Given the description of an element on the screen output the (x, y) to click on. 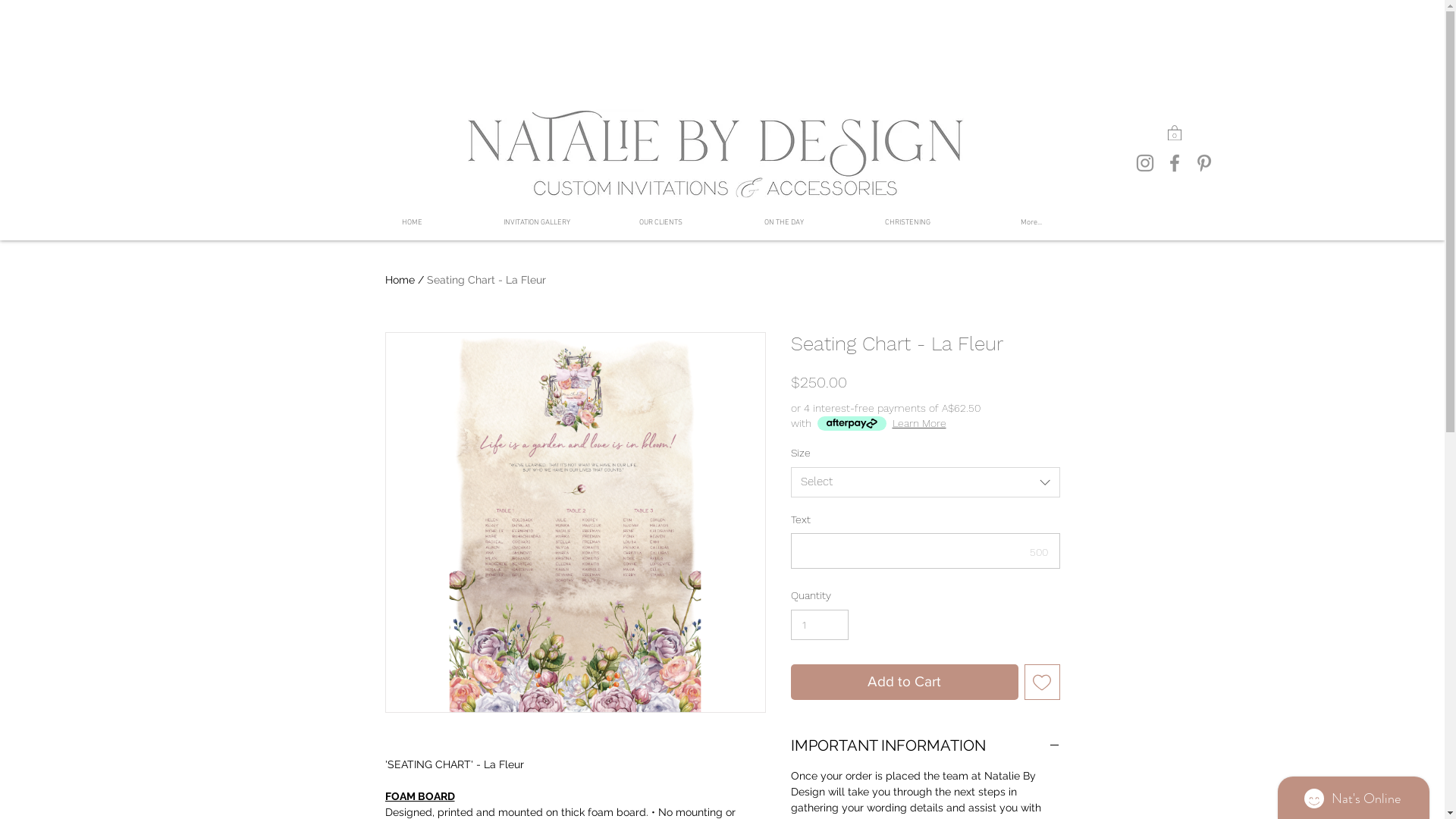
0 Element type: text (1174, 132)
INVITATION GALLERY Element type: text (536, 222)
HOME Element type: text (412, 222)
OUR CLIENTS Element type: text (660, 222)
ON THE DAY Element type: text (783, 222)
Home Element type: text (399, 279)
Custom Invitations - The Art of inviting Element type: hover (712, 153)
Select Element type: text (924, 482)
Learn More Element type: text (918, 422)
CHRISTENING Element type: text (907, 222)
IMPORTANT INFORMATION Element type: text (924, 745)
Seating Chart - La Fleur Element type: text (485, 279)
Add to Cart Element type: text (904, 681)
